Given the description of an element on the screen output the (x, y) to click on. 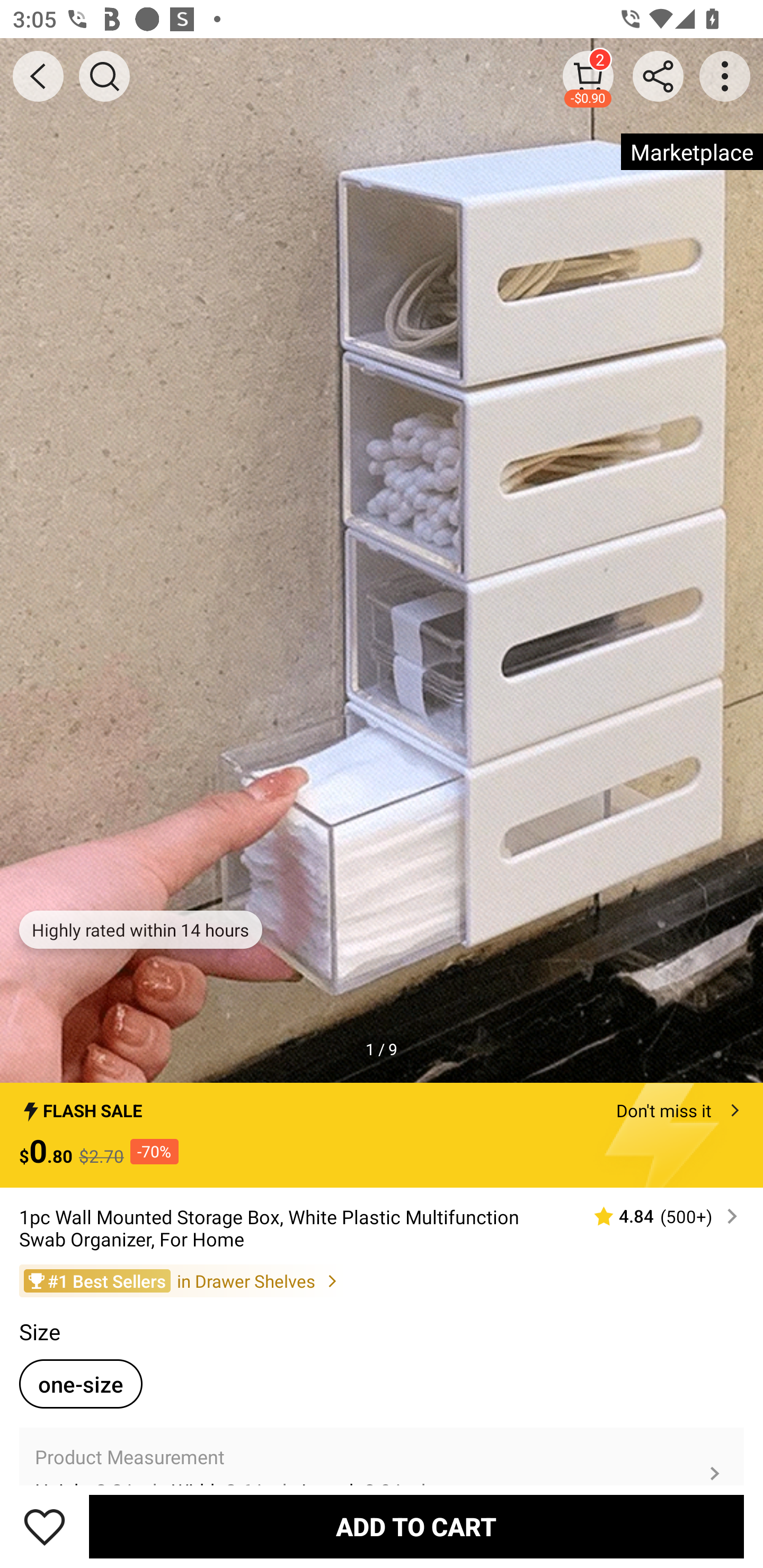
BACK (38, 75)
2 -$0.90 (588, 75)
1 / 9 (381, 1048)
FLASH SALE Don't miss it $0.80 $2.70 -70% (381, 1134)
FLASH SALE Don't miss it (381, 1105)
4.84 (500‎+) (658, 1216)
#1 Best Sellers in Drawer Shelves (381, 1279)
Size (39, 1331)
one-size one-sizeselected option (80, 1383)
ADD TO CART (416, 1526)
Save (44, 1526)
